Given the description of an element on the screen output the (x, y) to click on. 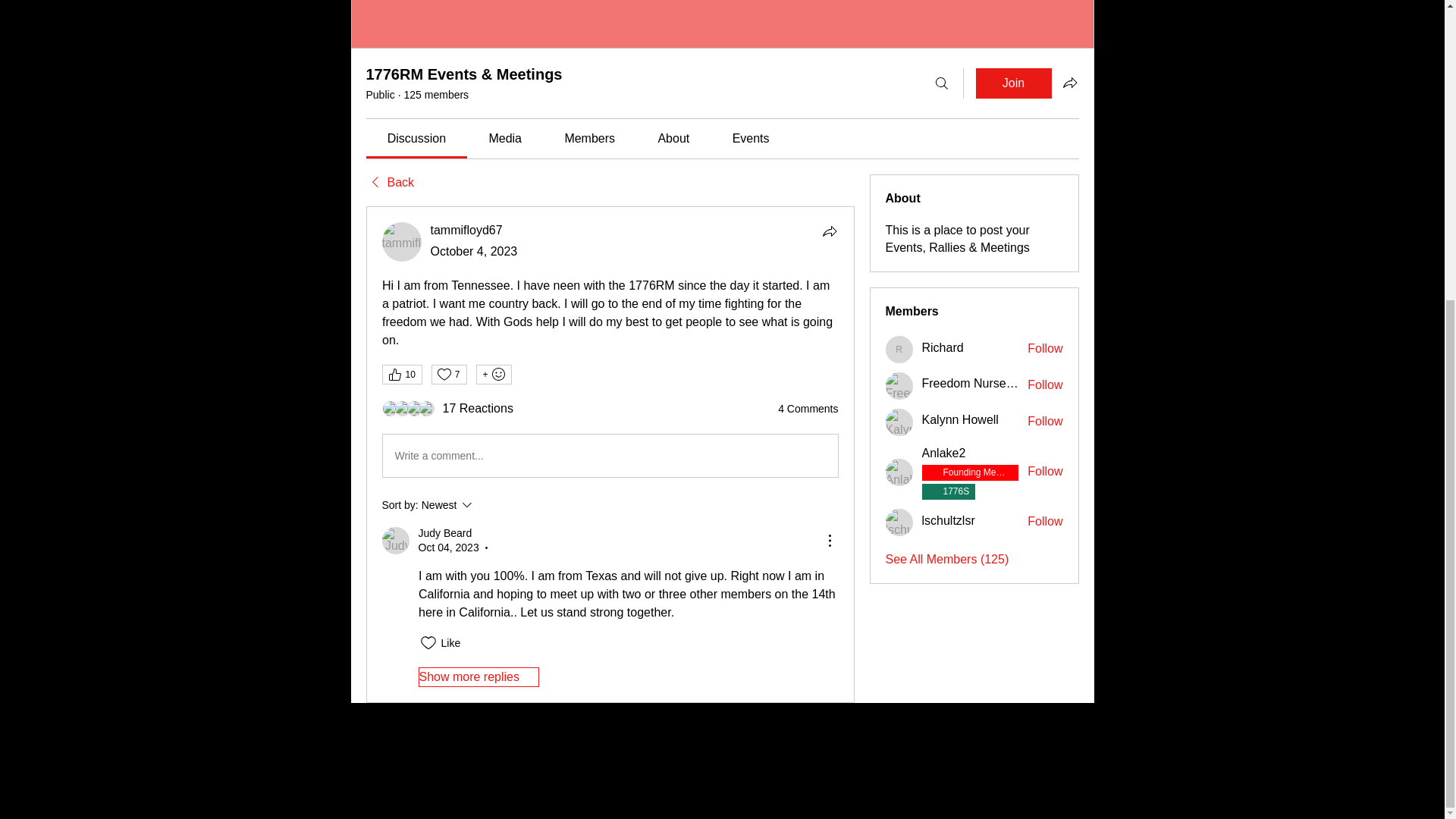
Kalynn Howell (898, 421)
Show more replies (479, 677)
Anlake2 (943, 453)
4 Comments (807, 409)
Barbara Puglese (389, 408)
Sancia D (427, 408)
Follow (487, 505)
